Given the description of an element on the screen output the (x, y) to click on. 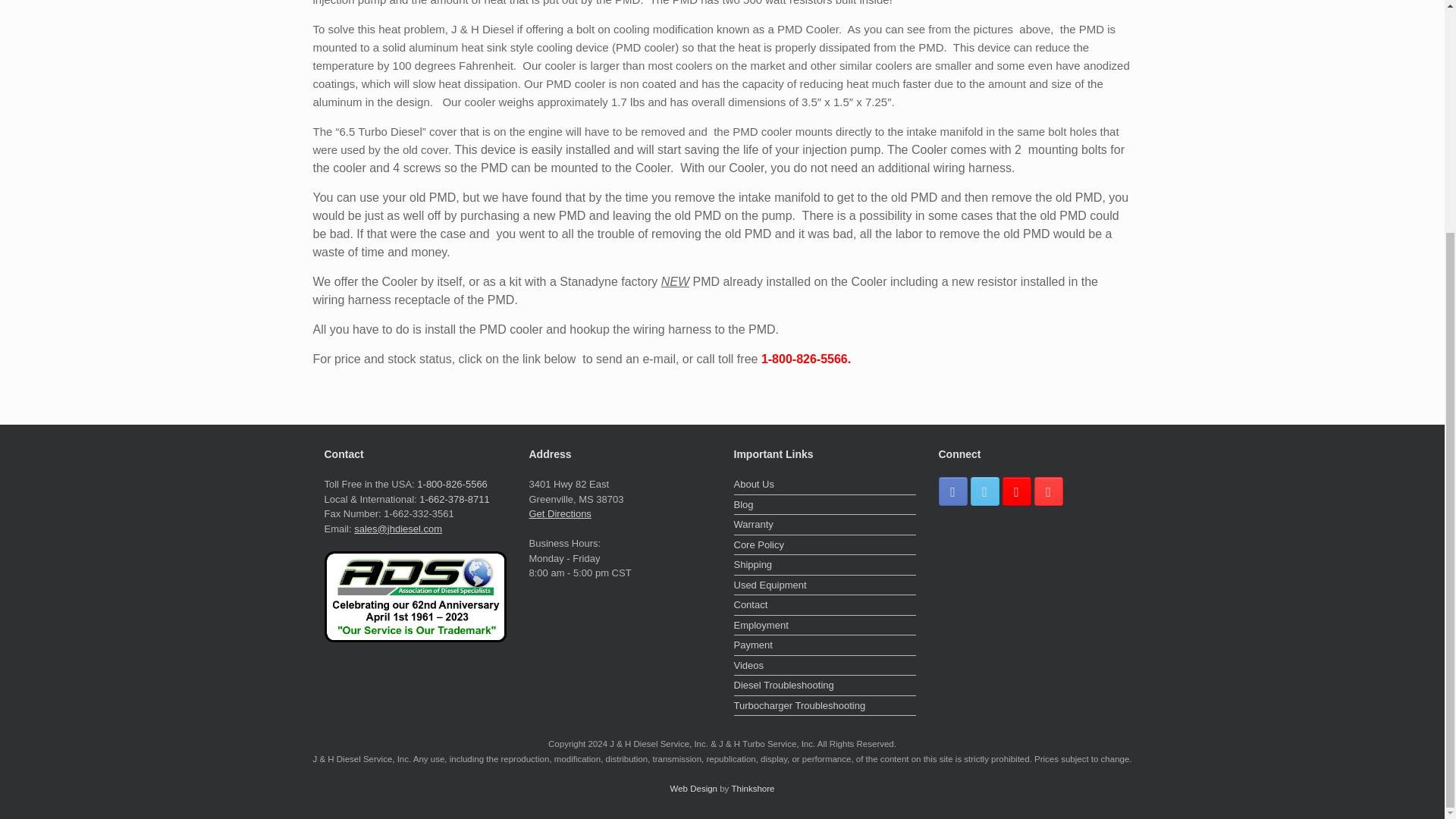
Blog (824, 505)
1-662-378-8711 (454, 499)
Get Directions (560, 513)
About Us (824, 485)
1-800-826-5566 (451, 483)
Warranty (824, 525)
